Given the description of an element on the screen output the (x, y) to click on. 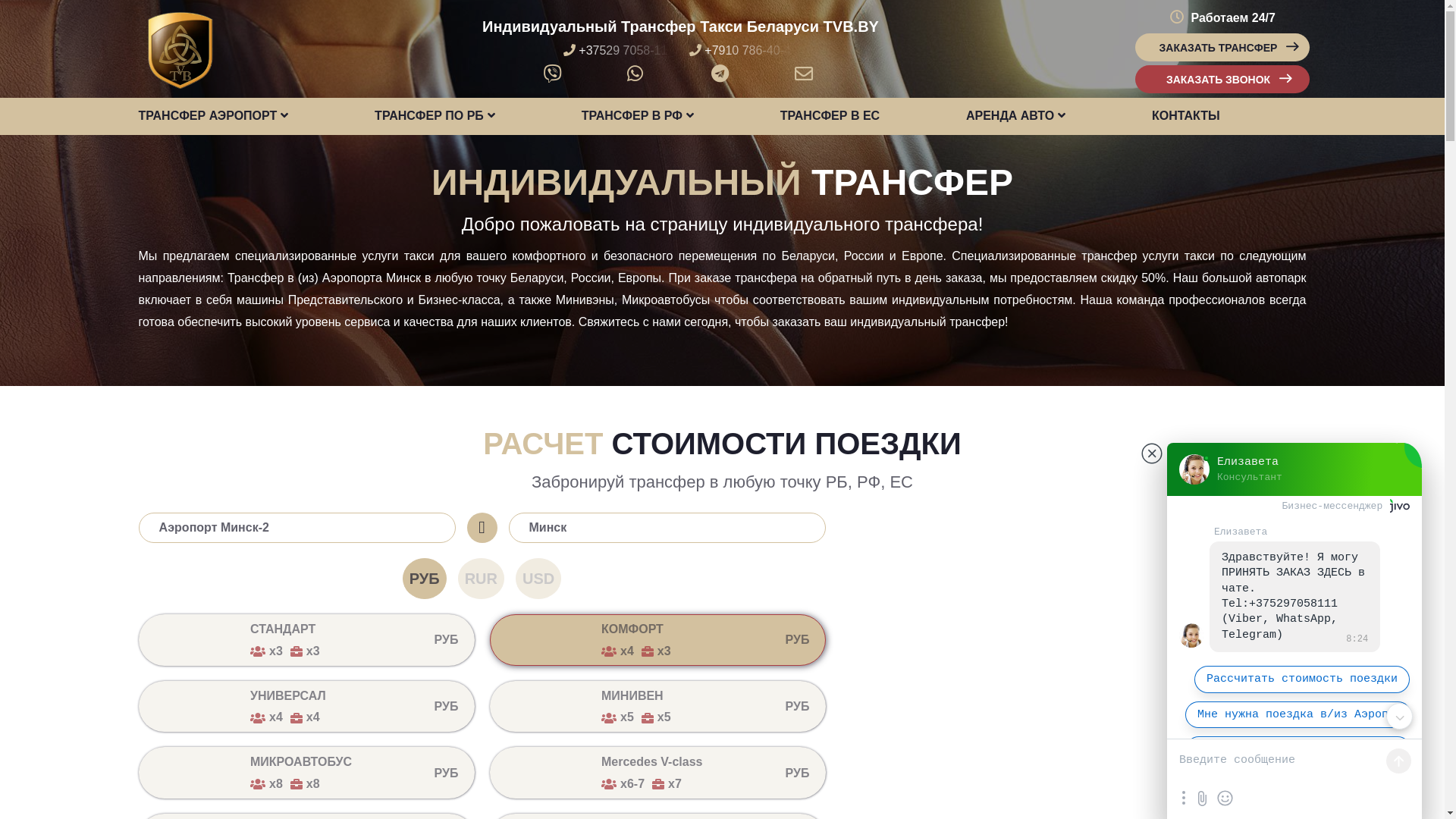
+7910 786-40-4 Element type: text (743, 49)
+37529 7058-11 Element type: text (618, 49)
